Given the description of an element on the screen output the (x, y) to click on. 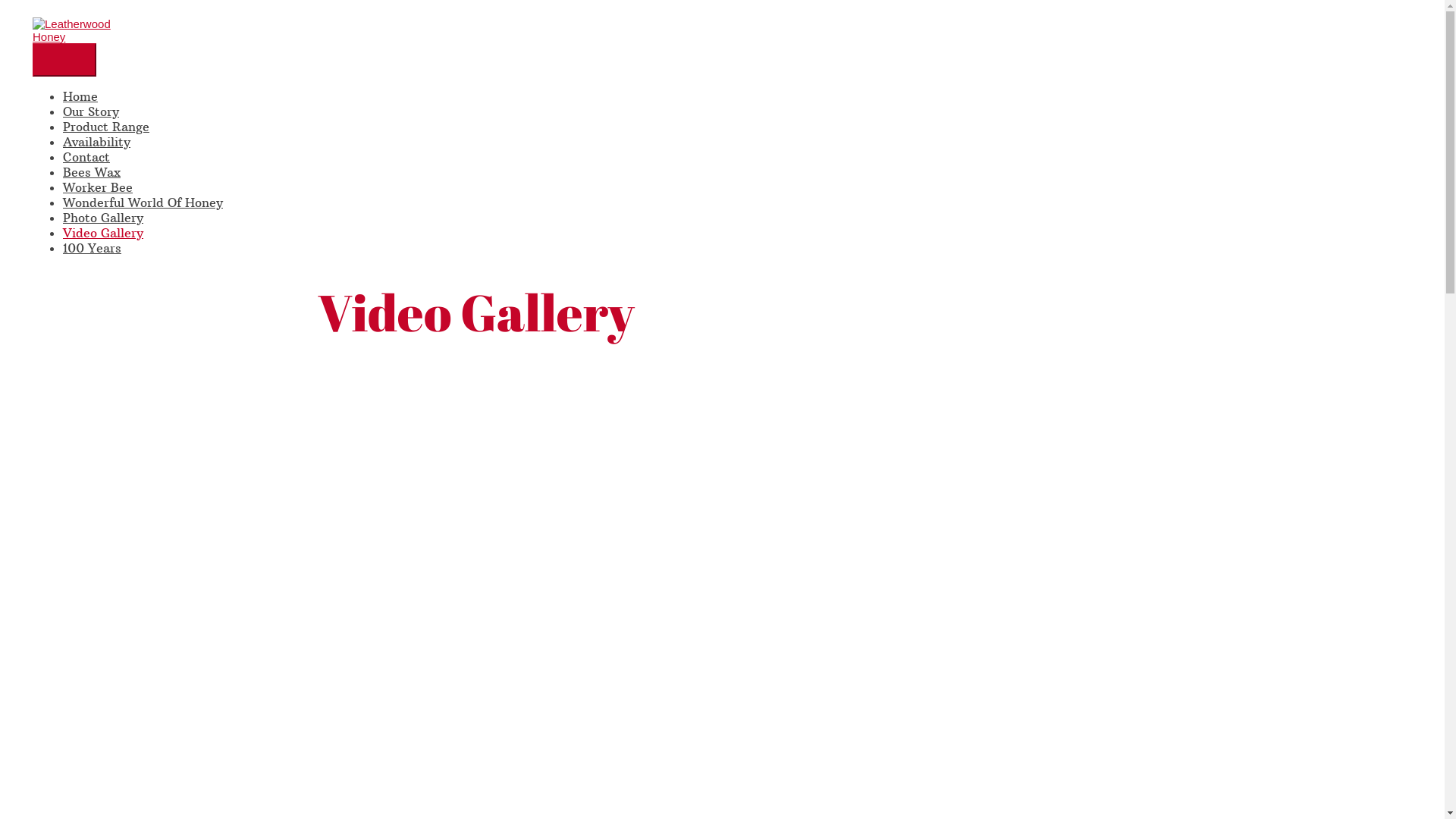
Worker Bee Element type: text (97, 186)
Our Story Element type: text (90, 111)
Photo Gallery Element type: text (102, 217)
Wonderful World Of Honey Element type: text (142, 202)
Home Element type: text (79, 95)
Video Gallery Element type: text (102, 232)
Bees Wax Element type: text (91, 171)
100 Years Element type: text (91, 247)
Contact Element type: text (85, 156)
Availability Element type: text (96, 141)
Product Range Element type: text (105, 126)
